Given the description of an element on the screen output the (x, y) to click on. 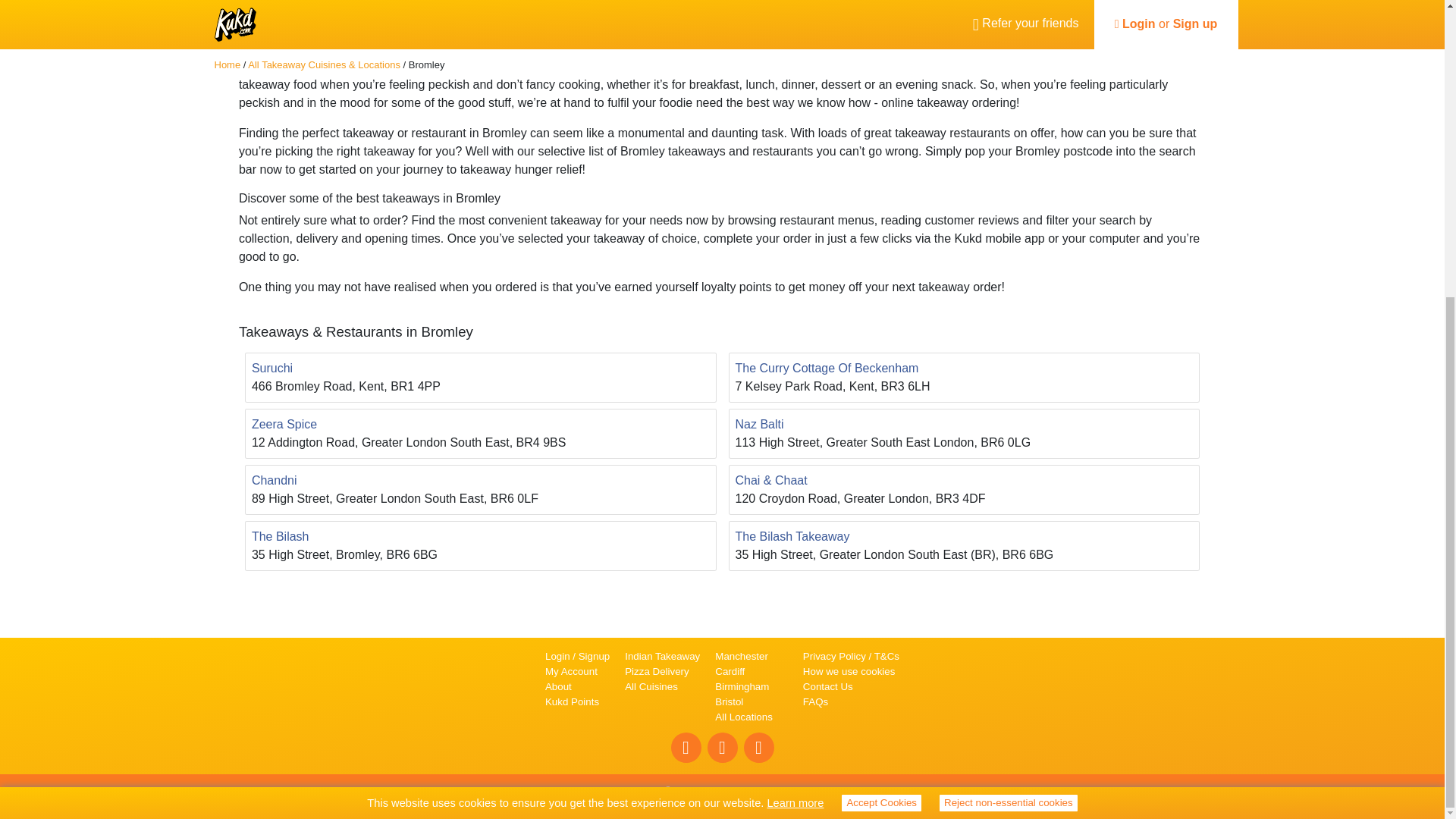
Zeera Spice (284, 424)
The Bilash (279, 536)
All Cuisines (651, 686)
Naz Balti (759, 424)
Contact Us (828, 686)
All Locations (743, 717)
Chandni (274, 480)
Suruchi (271, 368)
Indian Takeaway (662, 655)
About (558, 686)
Manchester (743, 656)
The Bilash Takeaway (792, 536)
How we use cookies (849, 671)
Birmingham (743, 686)
FAQs (815, 701)
